Given the description of an element on the screen output the (x, y) to click on. 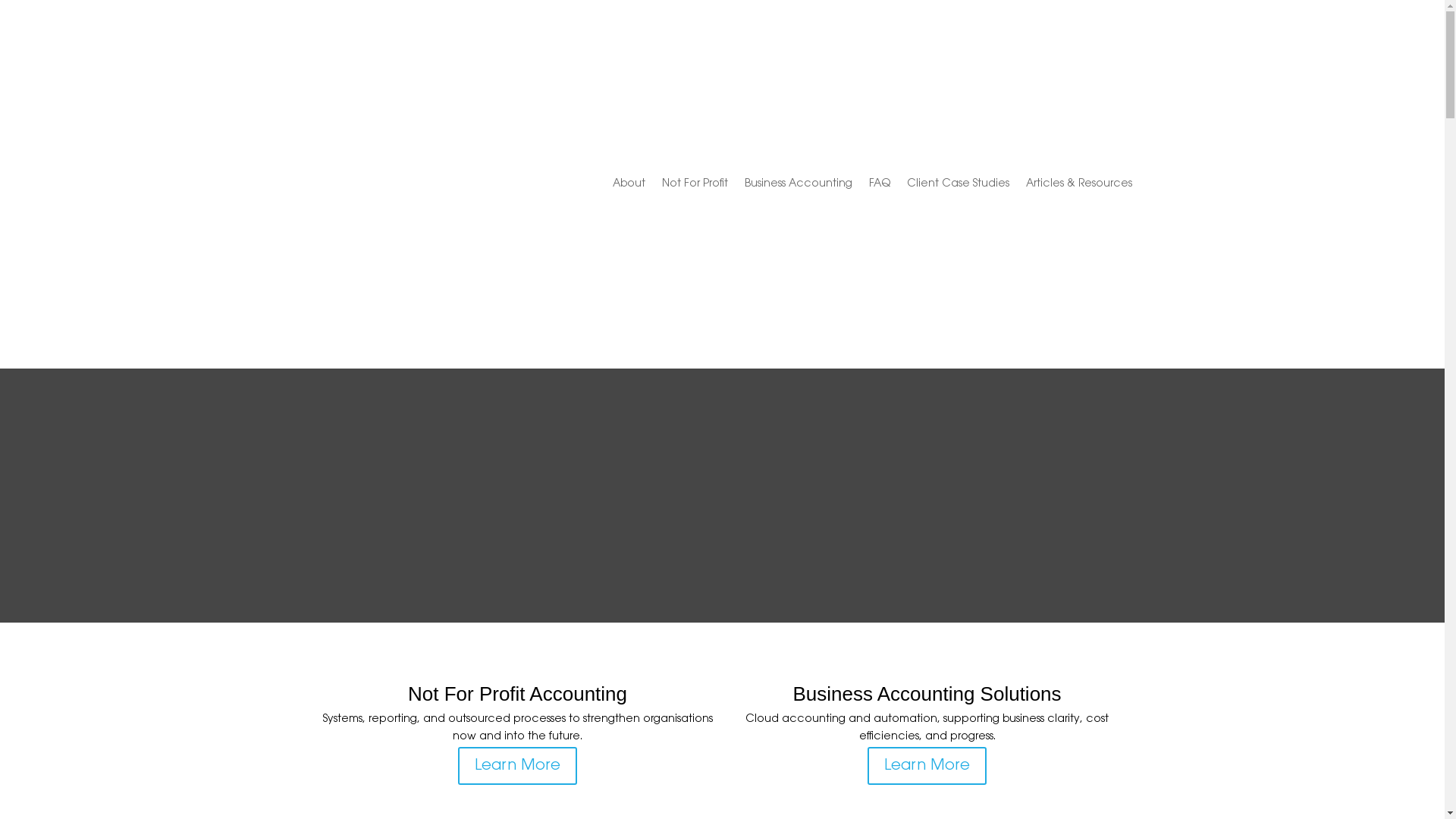
About Element type: text (628, 184)
Articles & Resources Element type: text (1078, 184)
Learn More Element type: text (926, 765)
Not For Profit Element type: text (694, 184)
Learn More Element type: text (517, 765)
Business Accounting Element type: text (798, 184)
Client Case Studies Element type: text (957, 184)
FAQ Element type: text (879, 184)
